Given the description of an element on the screen output the (x, y) to click on. 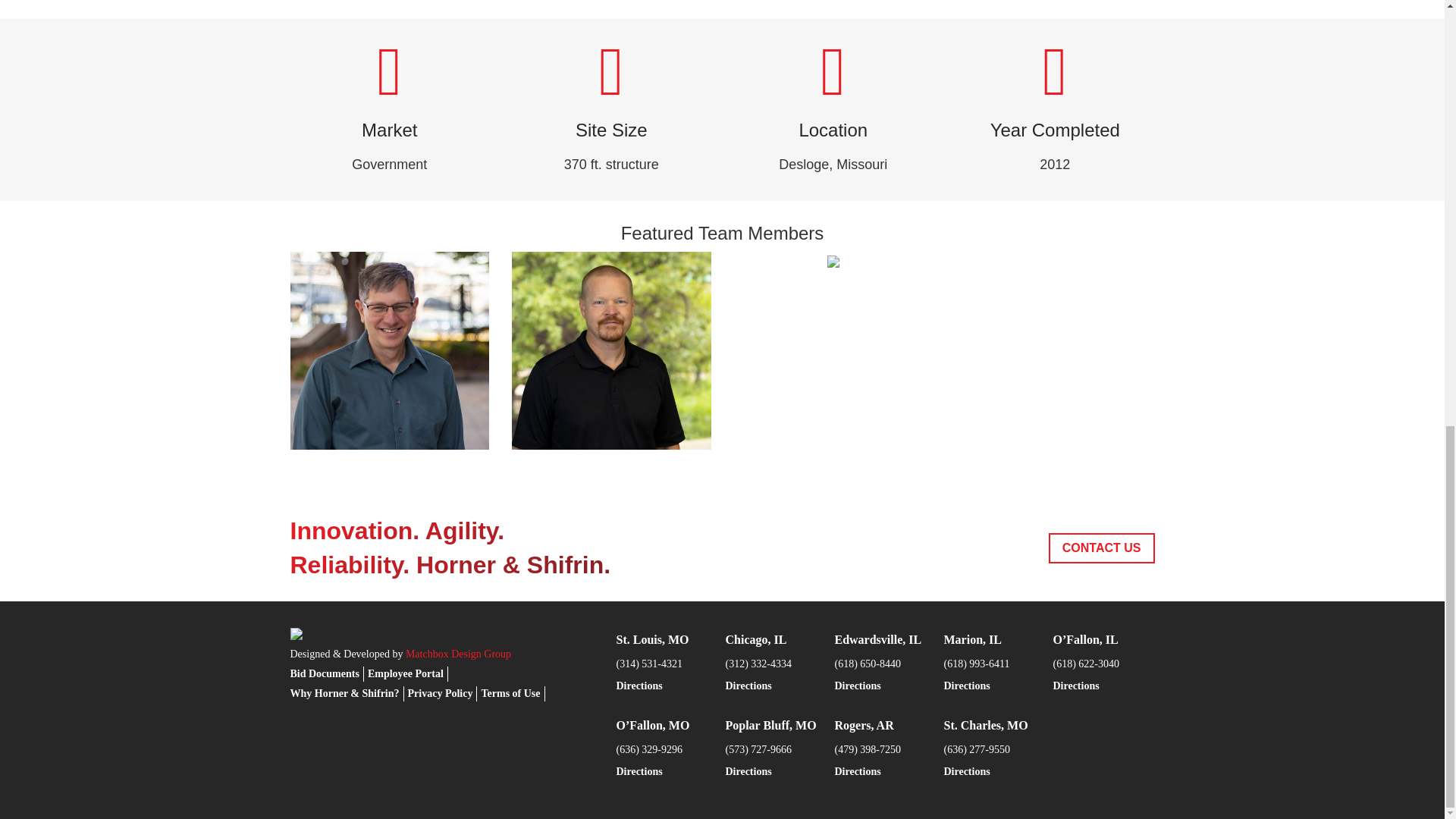
Matchbox Design Group (458, 654)
CONTACT US (1101, 548)
Bid Documents (323, 673)
